Given the description of an element on the screen output the (x, y) to click on. 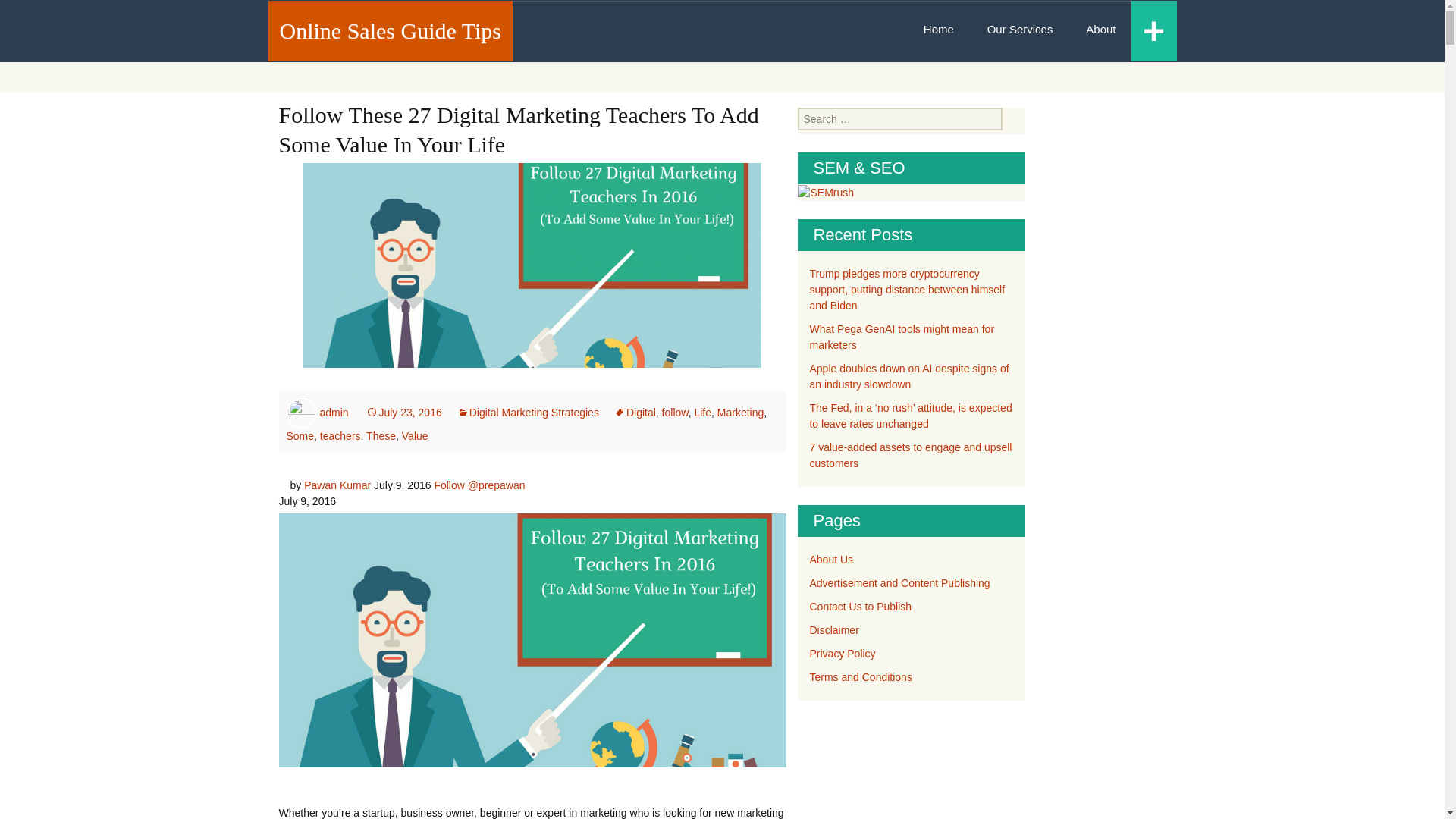
Some (300, 435)
Online Sales Guide Tips (389, 31)
Online Sales Guide Tips (389, 31)
follow (675, 412)
About (1100, 28)
Posts by admin (332, 412)
Value (414, 435)
admin (332, 412)
Digital (635, 412)
